Given the description of an element on the screen output the (x, y) to click on. 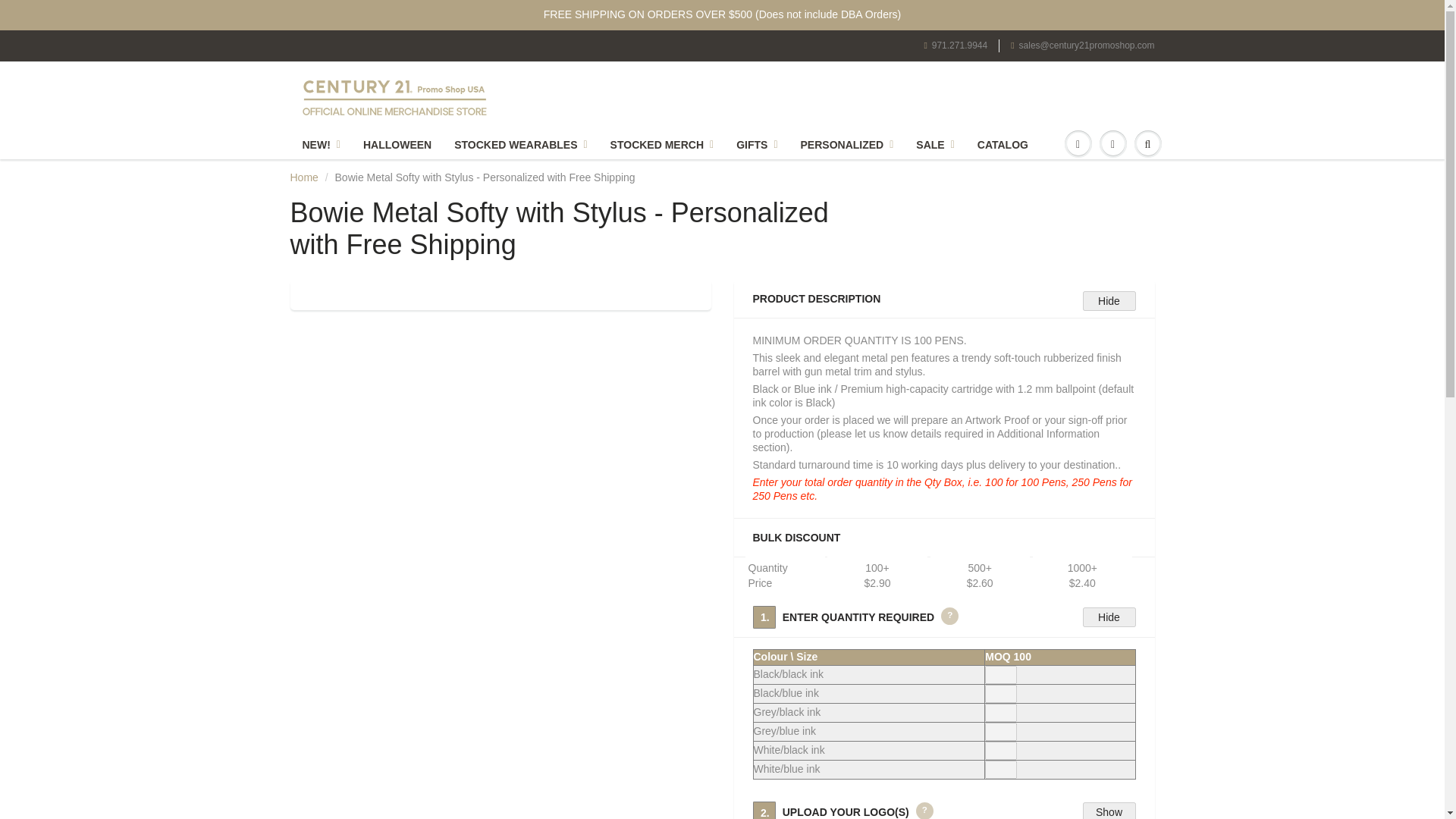
NEW! (321, 144)
Show (1109, 810)
971.271.9944 (955, 45)
STOCKED MERCH (661, 144)
Home (303, 177)
Hide (1109, 301)
Hide (1109, 617)
HALLOWEEN (397, 144)
STOCKED WEARABLES (520, 144)
